Given the description of an element on the screen output the (x, y) to click on. 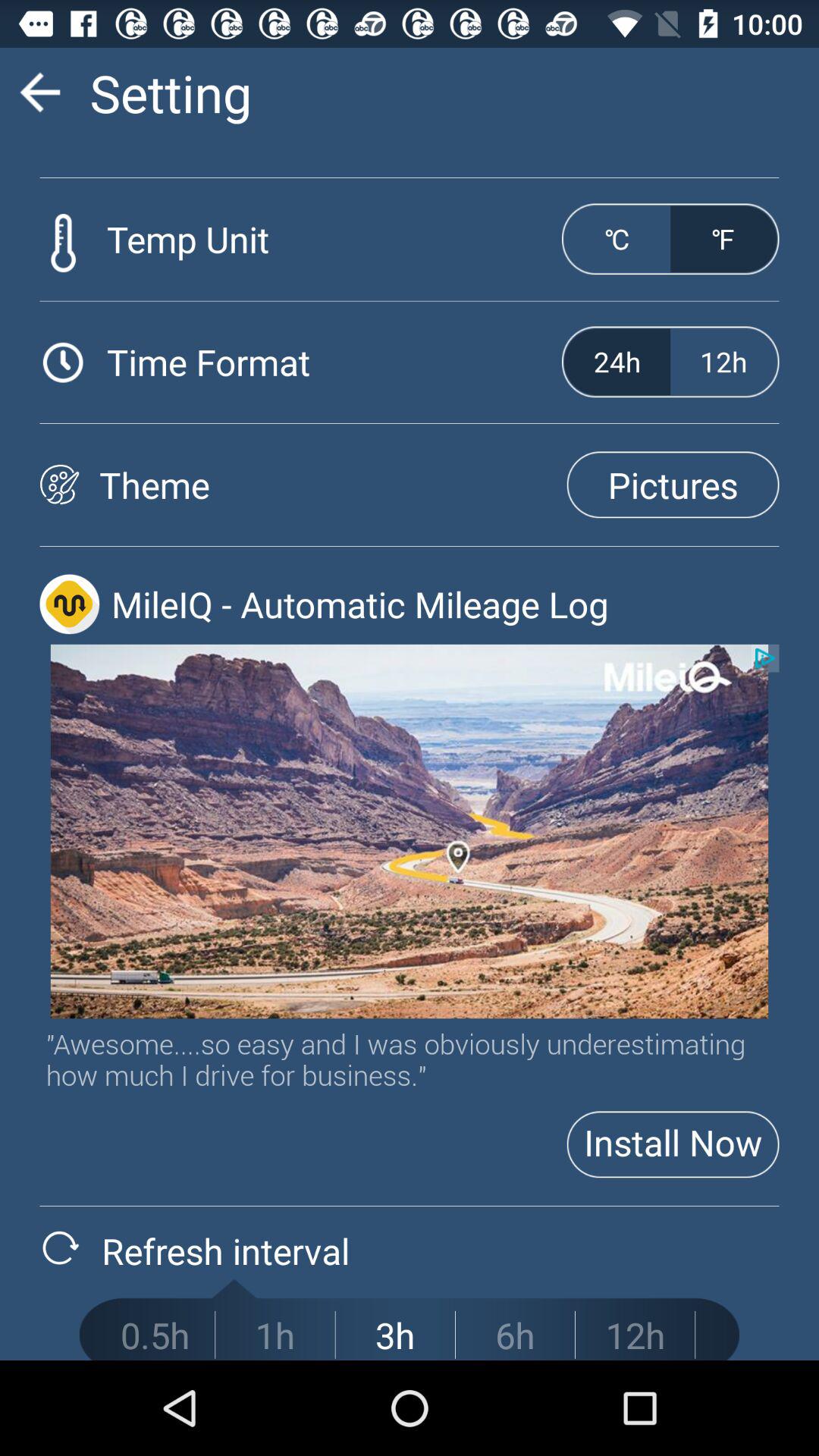
press the icon next to 0.5h app (274, 1334)
